Given the description of an element on the screen output the (x, y) to click on. 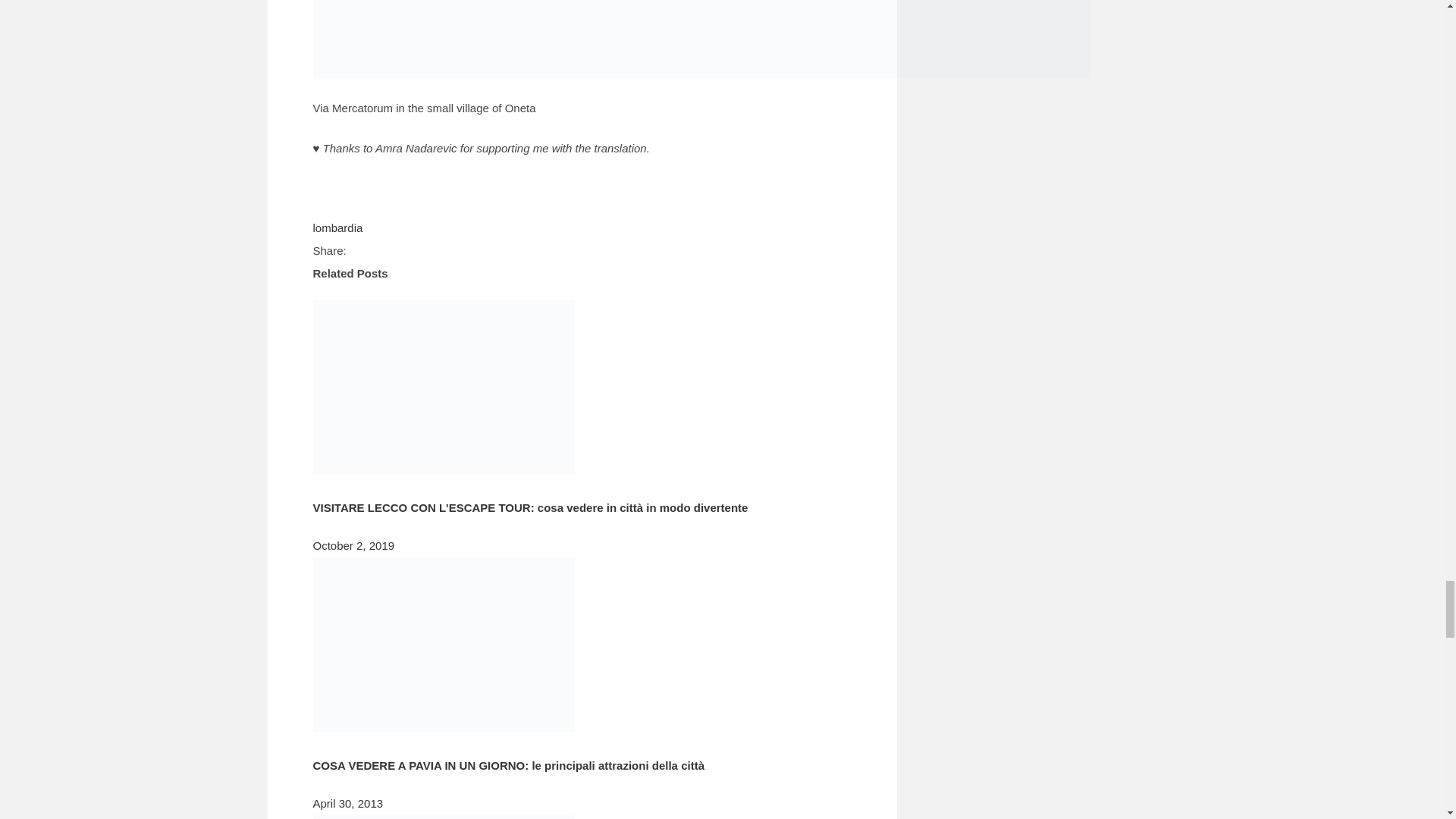
Permanent (530, 507)
Permanent (443, 727)
Permanent (443, 469)
